Given the description of an element on the screen output the (x, y) to click on. 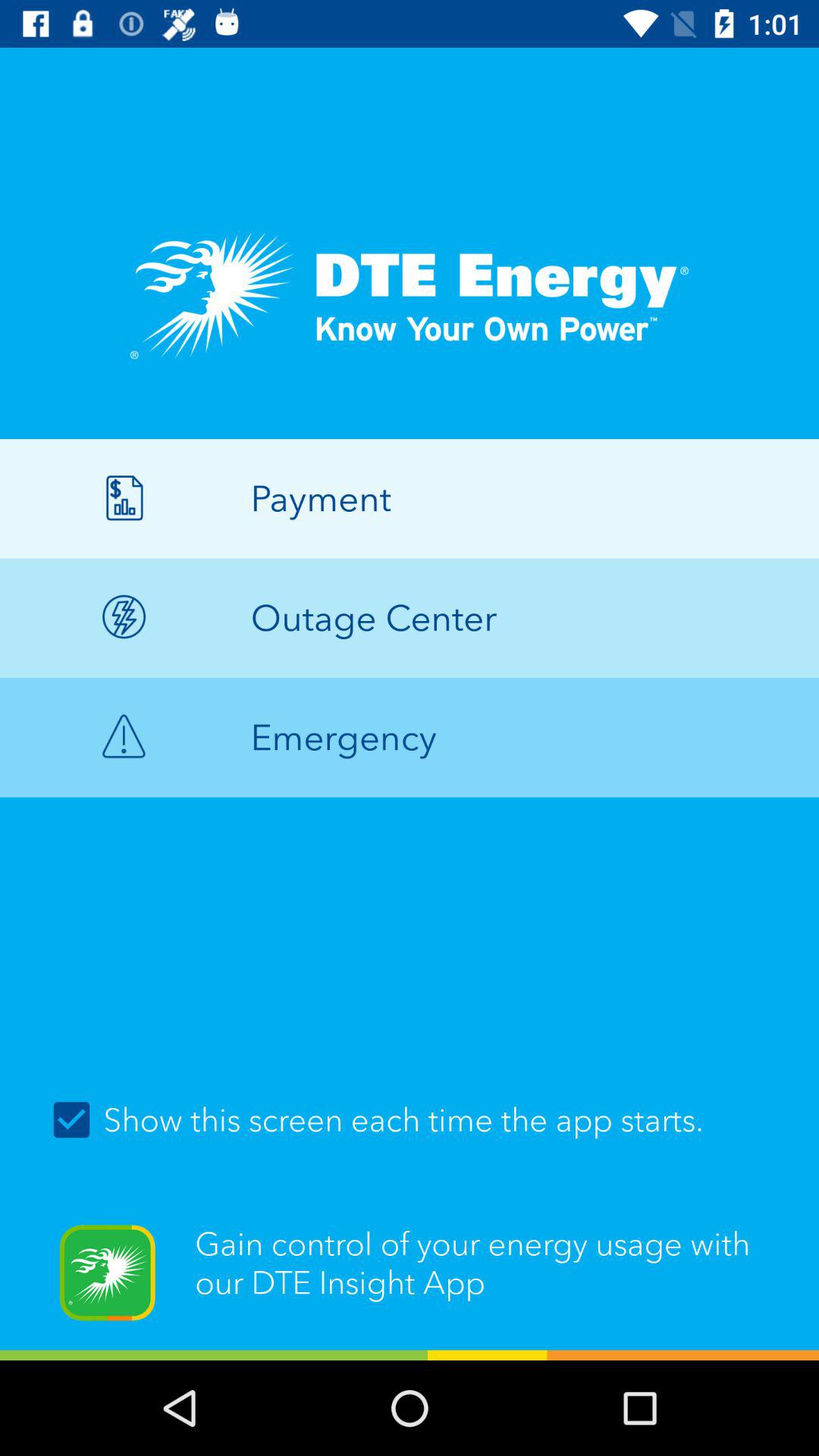
open item below emergency item (409, 1119)
